Given the description of an element on the screen output the (x, y) to click on. 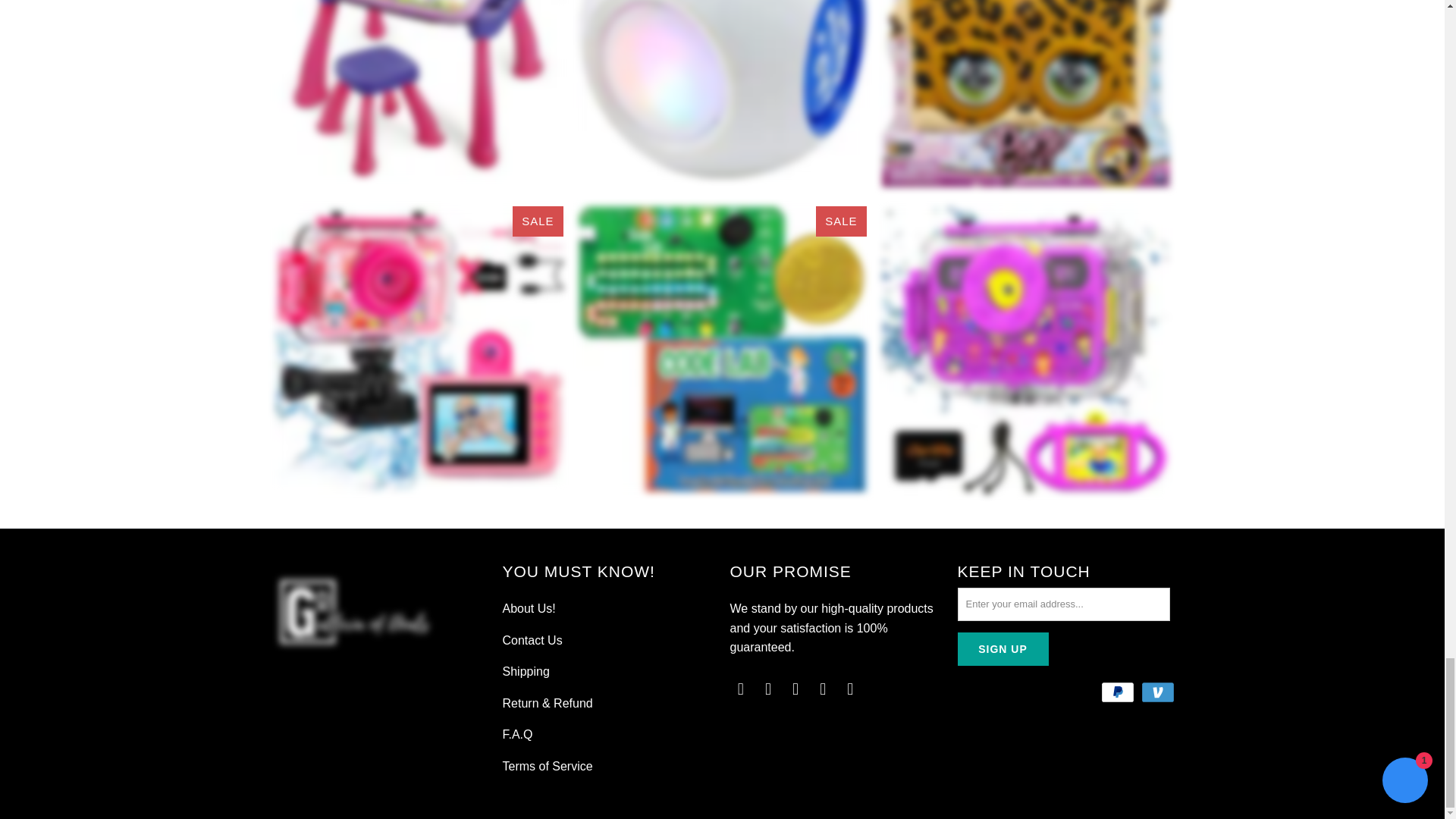
PayPal (1118, 691)
Galleria Of Deals on Pinterest (796, 689)
Galleria Of Deals on Instagram (823, 689)
Galleria Of Deals on Twitter (740, 689)
Galleria Of Deals on Facebook (768, 689)
Sign Up (1002, 648)
Venmo (1158, 691)
